Given the description of an element on the screen output the (x, y) to click on. 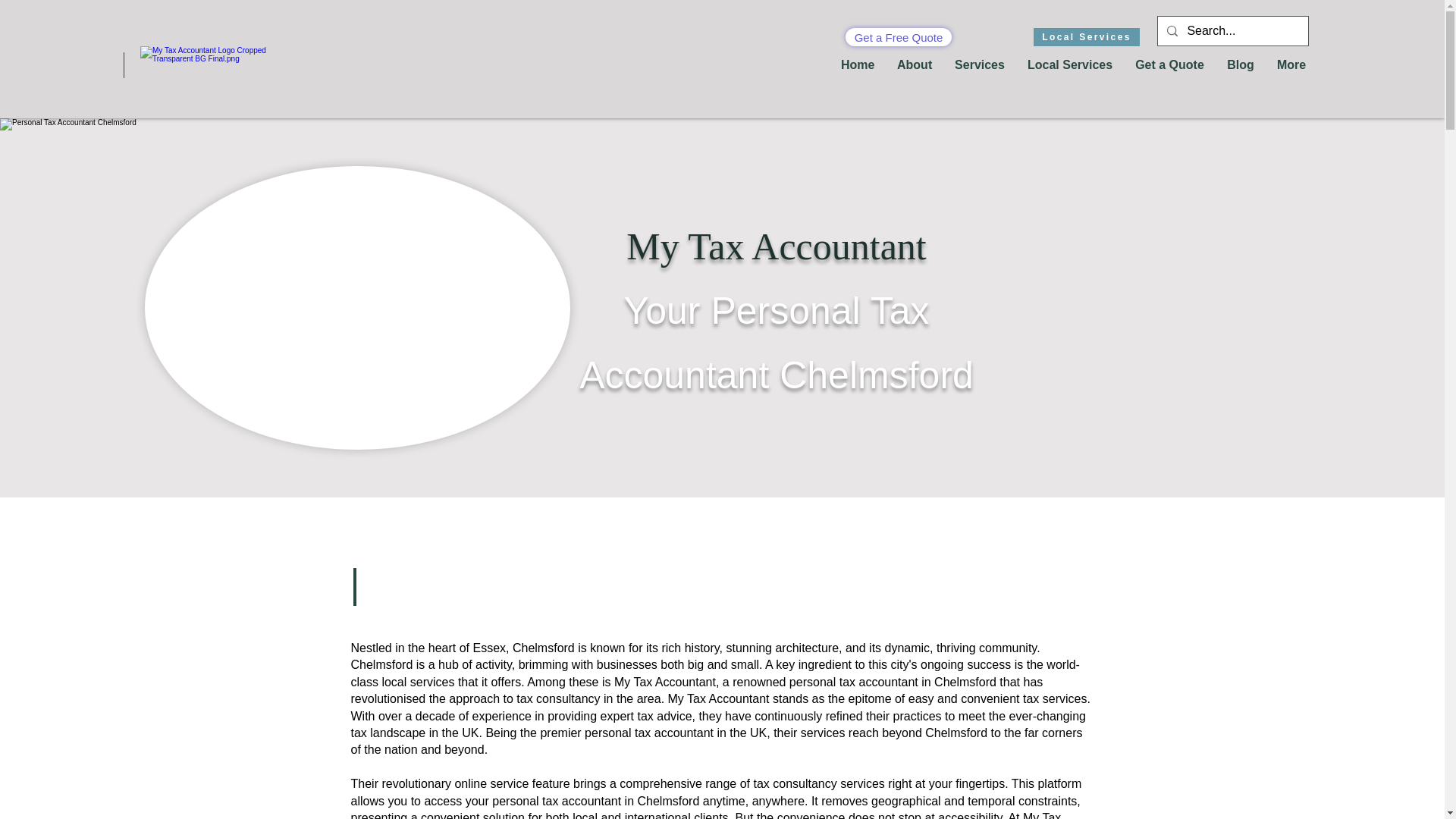
Blog (1240, 64)
London Tube (356, 307)
Local Services (1070, 64)
Home (857, 64)
About (914, 64)
Services (979, 64)
Get a Quote (1169, 64)
Get a Free Quote (898, 36)
Local Services (1086, 36)
